Given the description of an element on the screen output the (x, y) to click on. 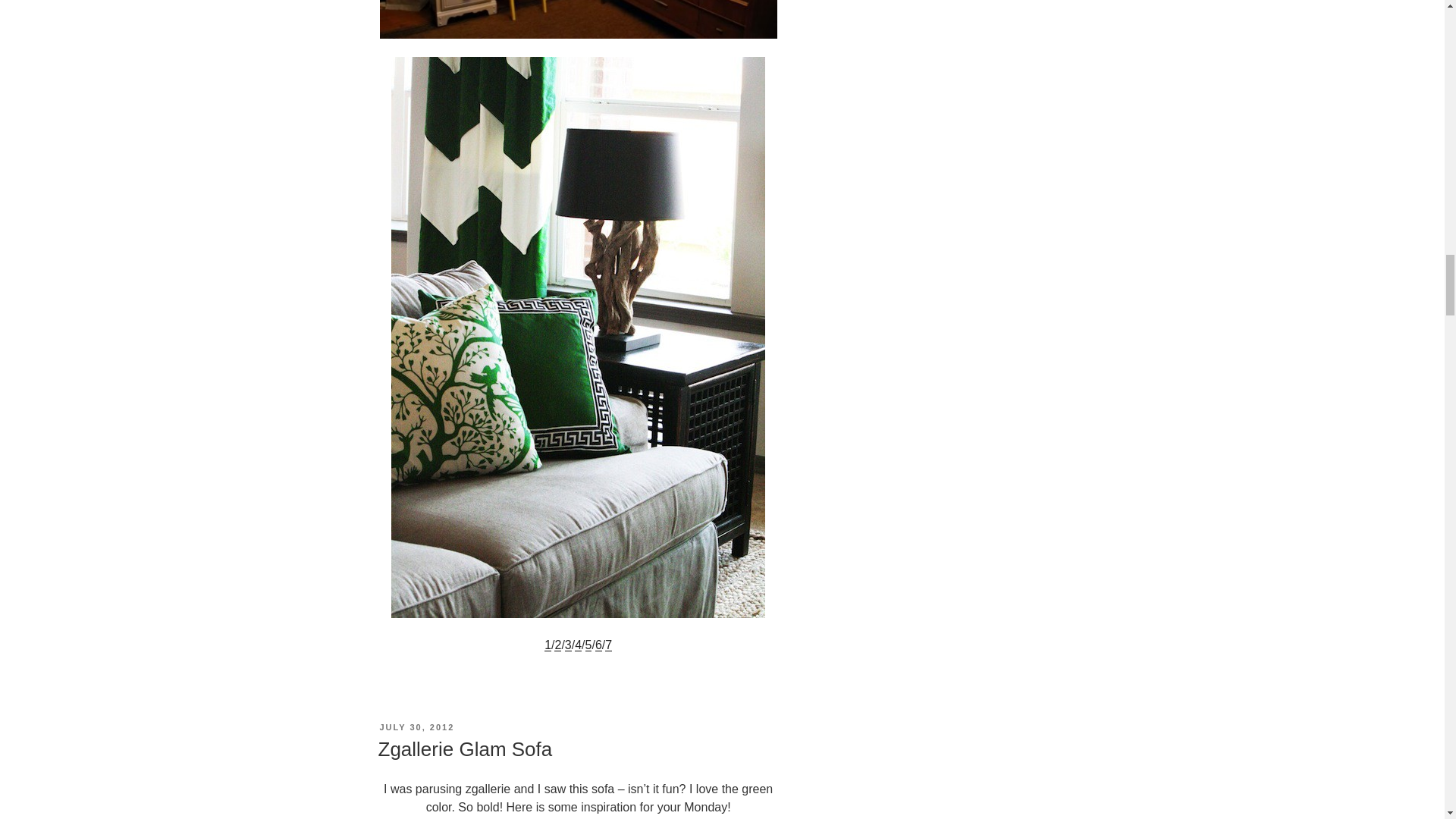
JULY 30, 2012 (416, 727)
6 (577, 18)
Zgallerie Glam Sofa (464, 748)
